Given the description of an element on the screen output the (x, y) to click on. 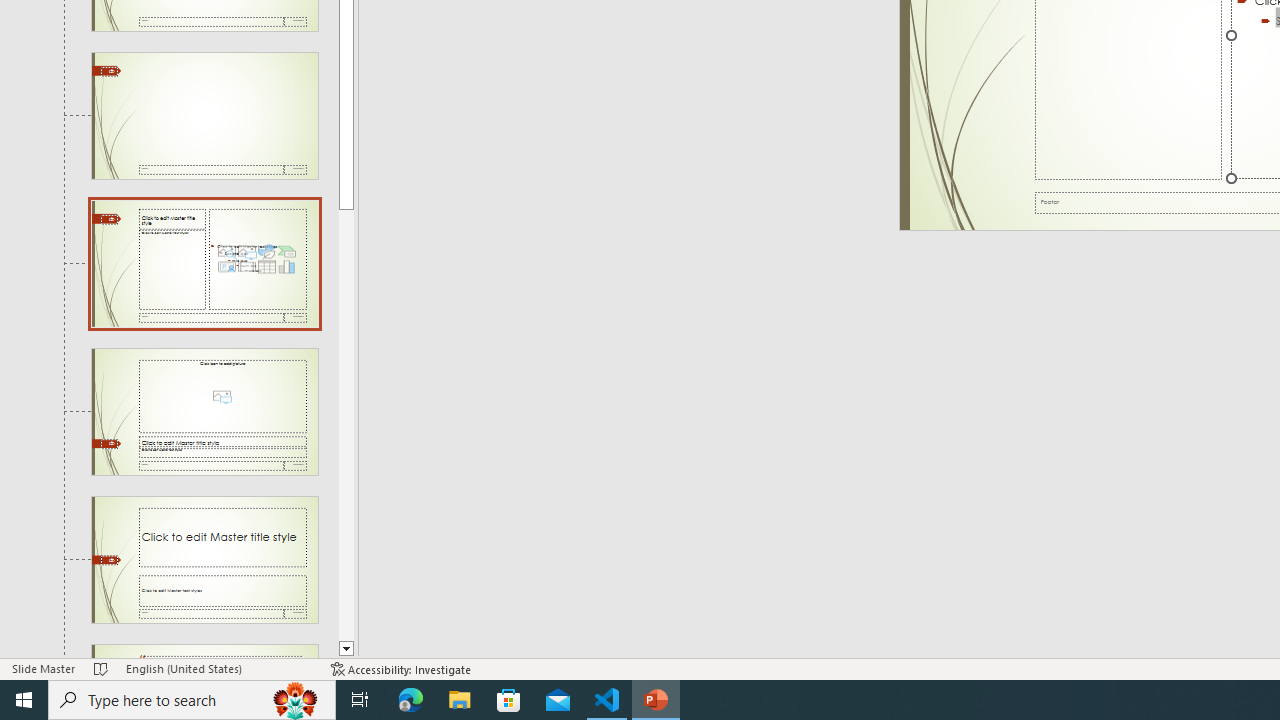
Slide Blank Layout: used by no slides (204, 116)
Slide Picture with Caption Layout: used by no slides (204, 412)
Slide Title and Caption Layout: used by no slides (204, 559)
Slide Content with Caption Layout: used by no slides (204, 263)
Slide Quote with Caption Layout: used by no slides (204, 651)
